Given the description of an element on the screen output the (x, y) to click on. 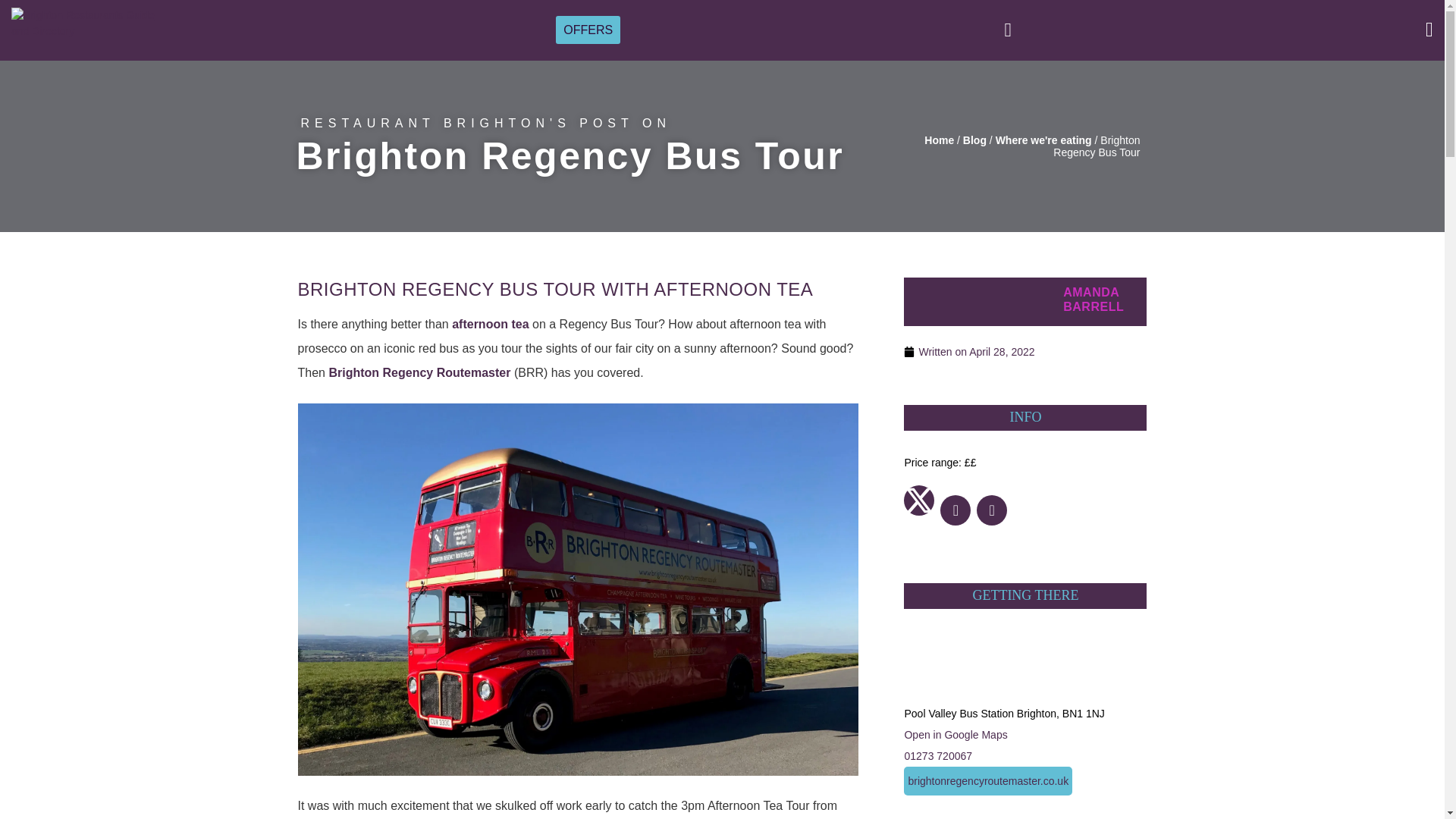
OFFERS (588, 29)
